Given the description of an element on the screen output the (x, y) to click on. 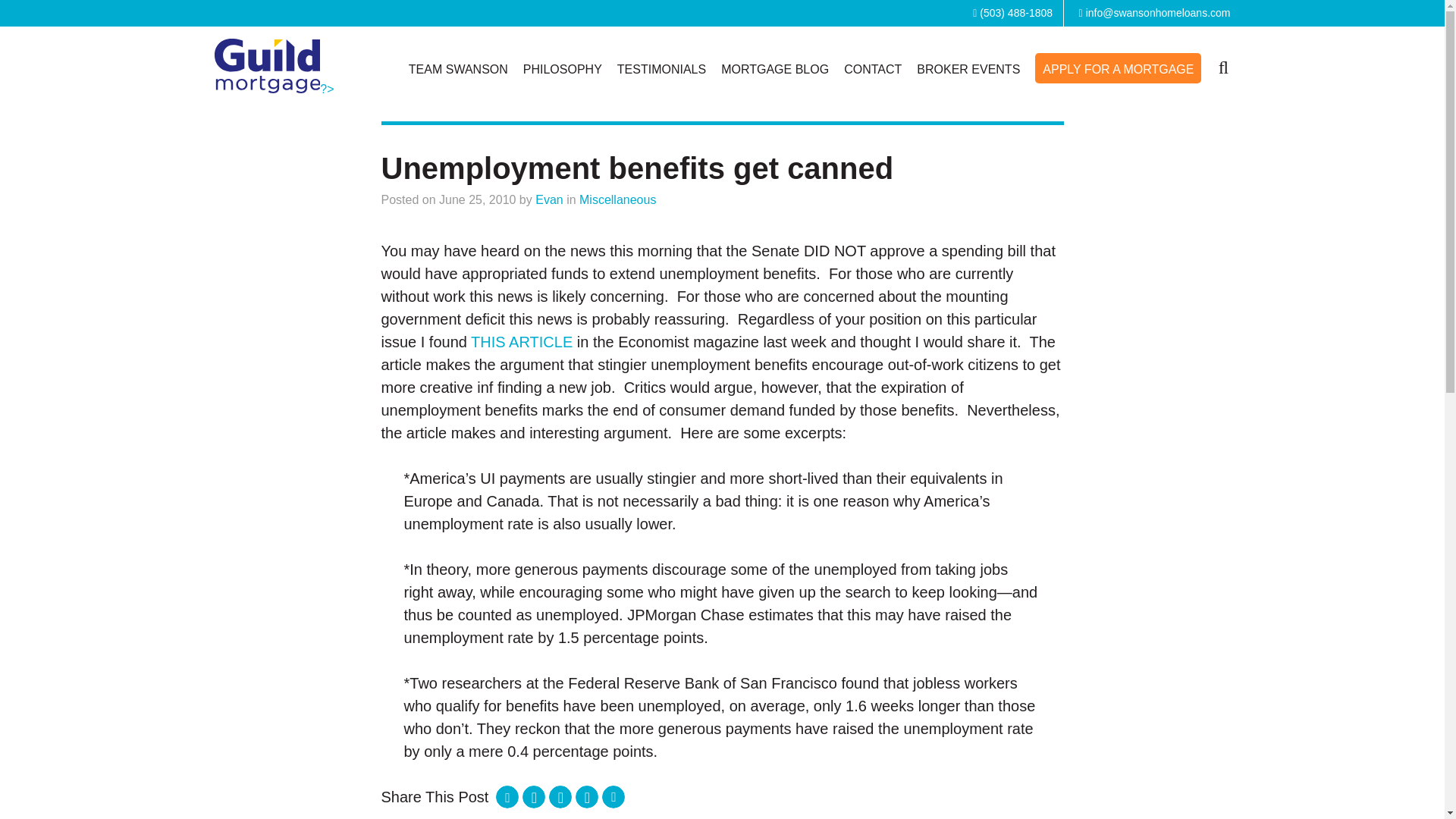
MORTGAGE BLOG (774, 70)
Miscellaneous (617, 199)
Twitter (560, 796)
Search (1222, 65)
PHILOSOPHY (562, 70)
TEAM SWANSON (458, 70)
Email (613, 796)
CONTACT (872, 70)
BROKER EVENTS (968, 70)
LinkedIn (533, 796)
